Given the description of an element on the screen output the (x, y) to click on. 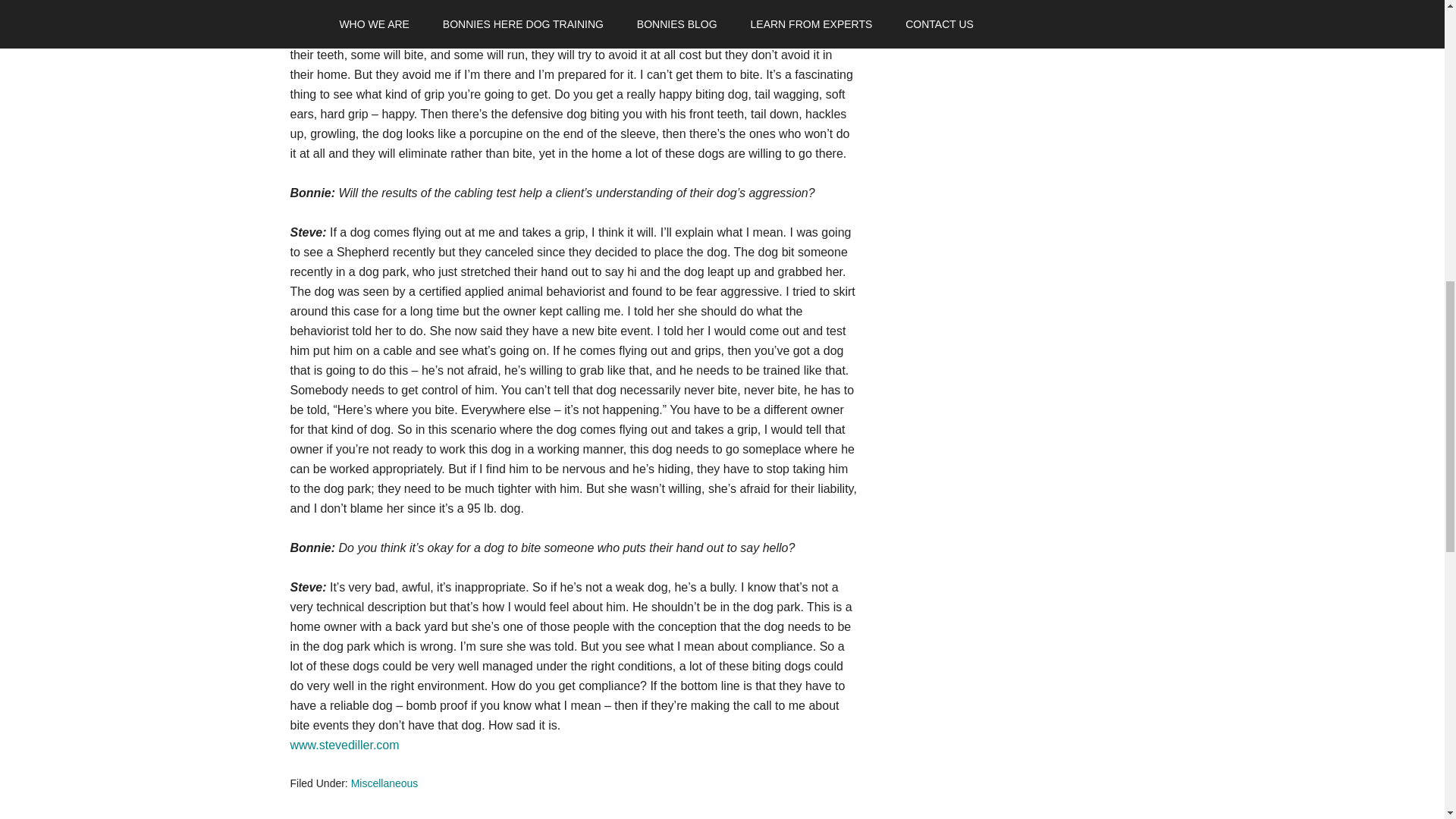
Miscellaneous (384, 783)
www.stevediller.com (343, 744)
STEVE DILLER (343, 744)
